Given the description of an element on the screen output the (x, y) to click on. 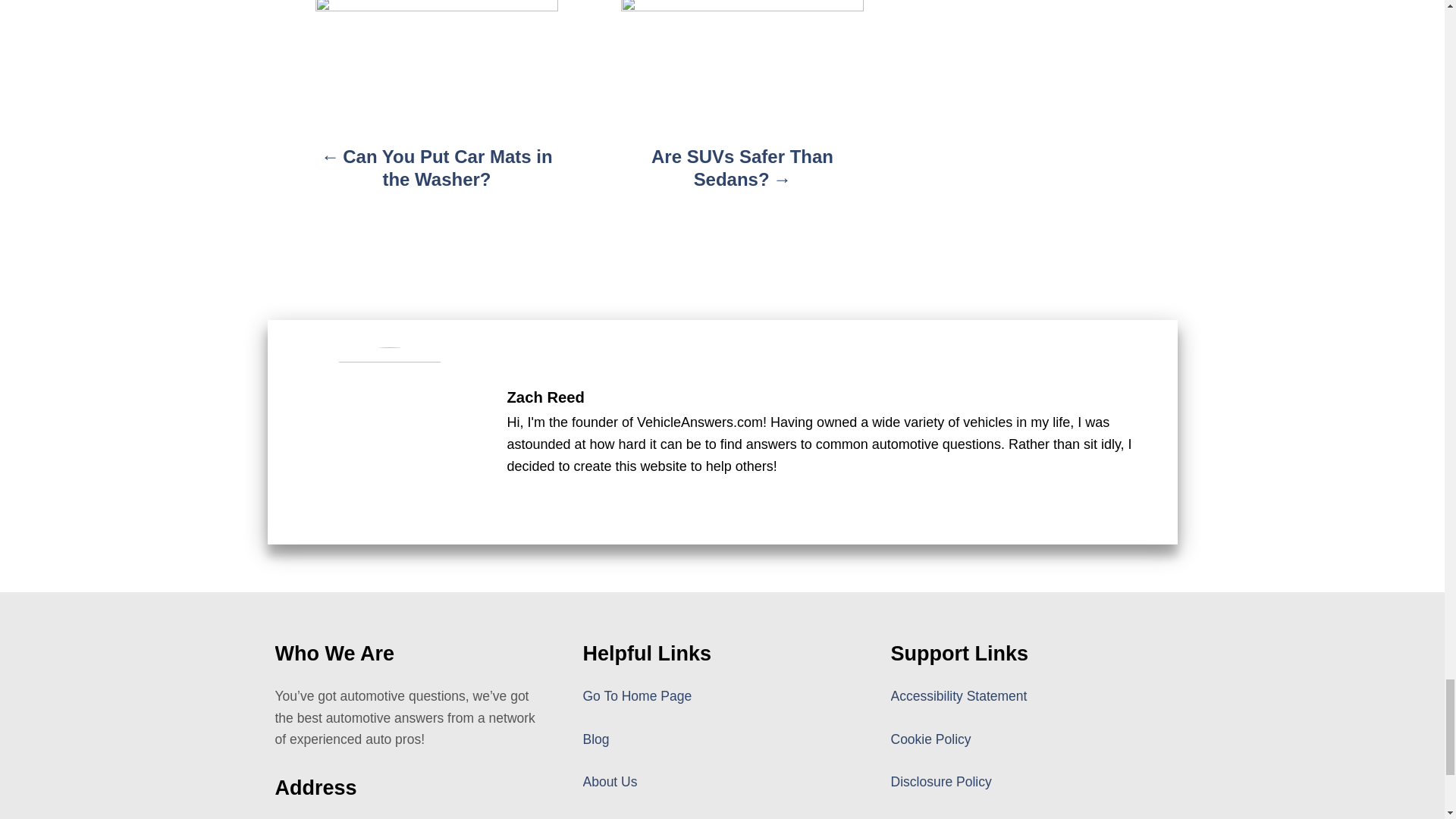
Can You Put Car Mats in the Washer? (437, 175)
About Us (609, 781)
Contact Us (614, 818)
Are SUVs Safer Than Sedans? (741, 175)
Disclosure Policy (940, 781)
Go To Home Page (636, 695)
Accessibility Statement (957, 695)
Privacy Policy (930, 818)
Blog (595, 739)
Cookie Policy (930, 739)
